Given the description of an element on the screen output the (x, y) to click on. 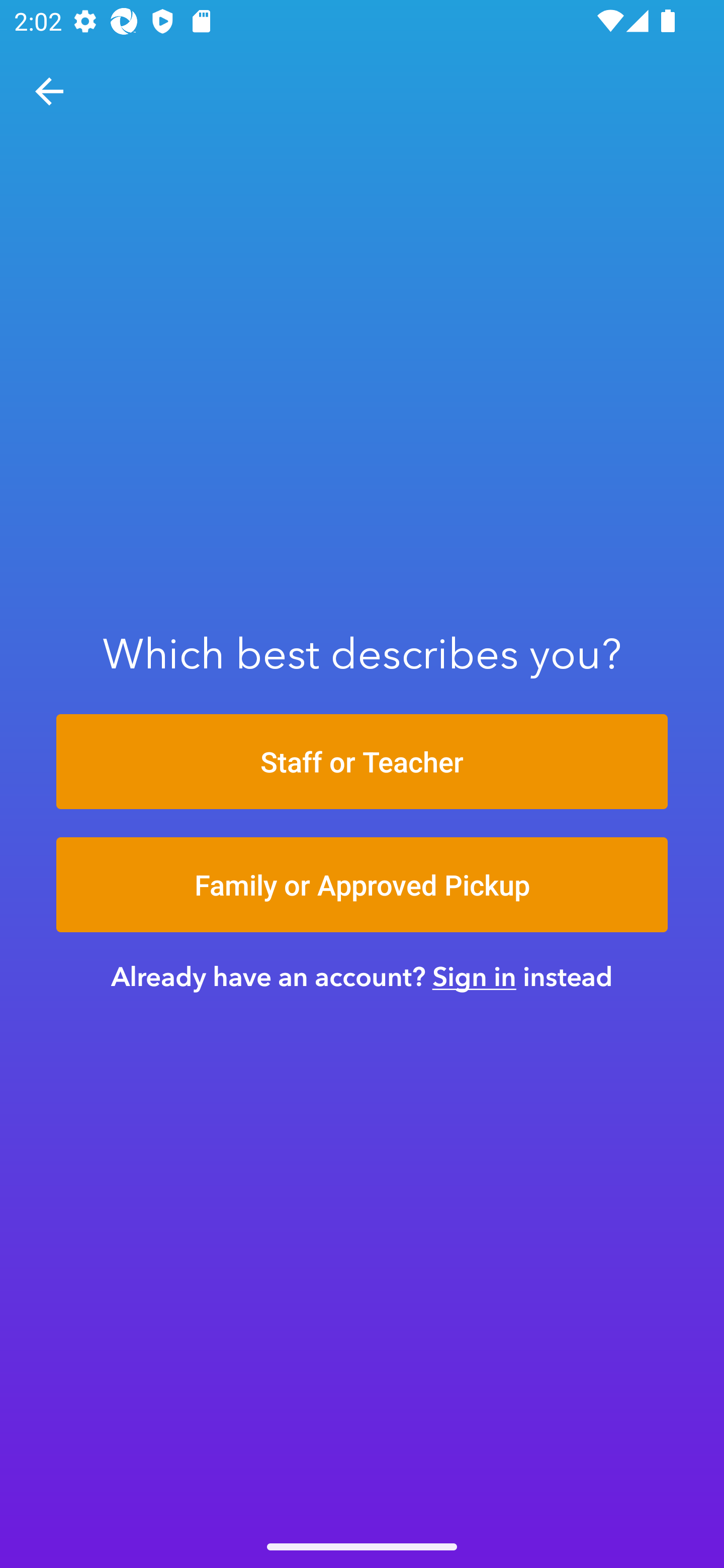
Navigate up (49, 91)
Staff or Teacher (361, 761)
Family or Approved Pickup (361, 884)
Already have an account? Sign in instead (361, 975)
